Given the description of an element on the screen output the (x, y) to click on. 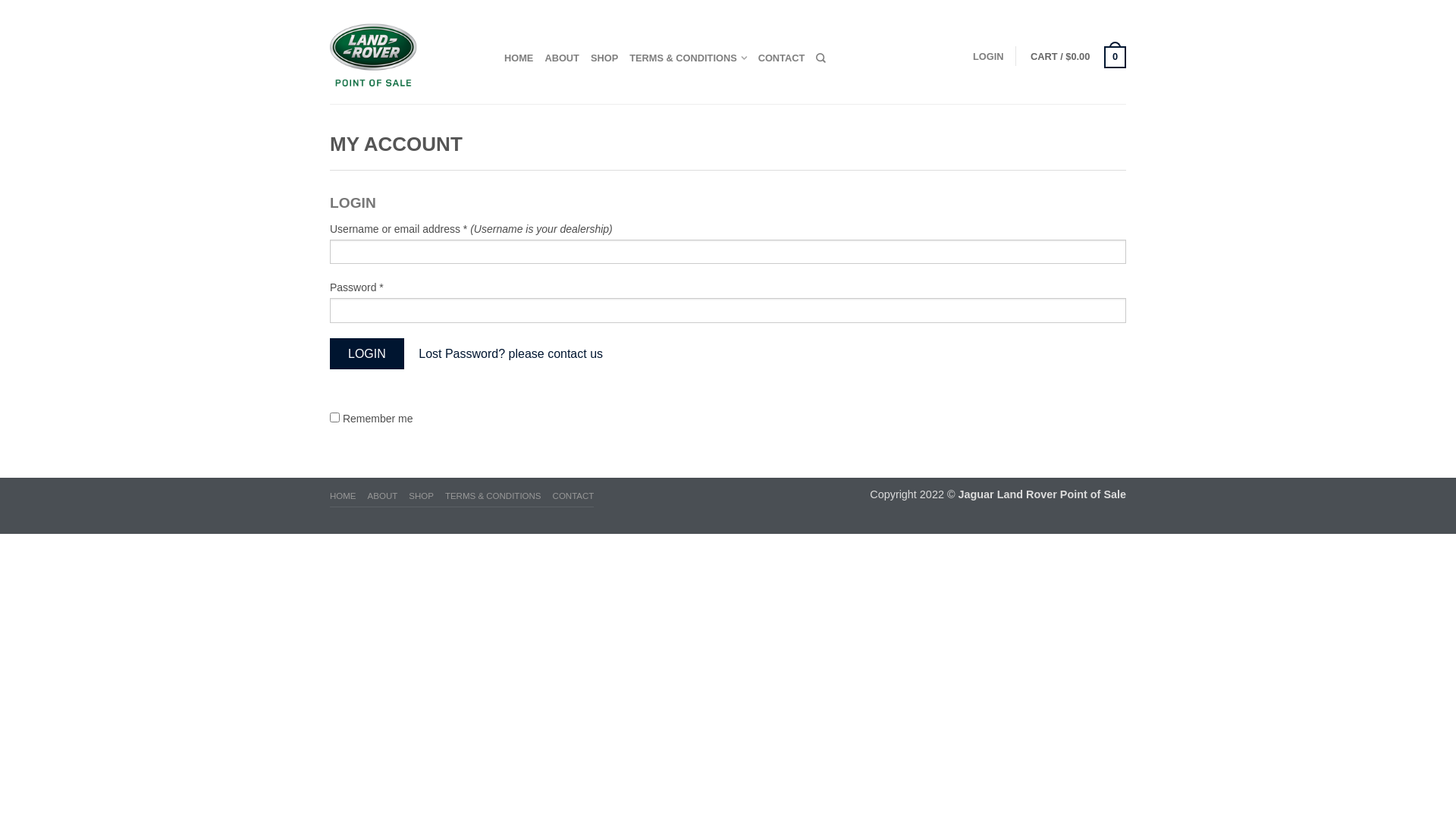
Login Element type: text (366, 353)
SHOP Element type: text (420, 497)
CONTACT Element type: text (781, 57)
ABOUT Element type: text (382, 497)
ABOUT Element type: text (561, 57)
TERMS & CONDITIONS Element type: text (687, 57)
TERMS & CONDITIONS Element type: text (493, 497)
SHOP Element type: text (604, 57)
HOME Element type: text (342, 497)
Lost Password? please contact us Element type: text (510, 353)
HOME Element type: text (518, 57)
LOGIN Element type: text (988, 56)
Land Rover Point of Sale : Australia -  Element type: hover (405, 51)
CONTACT Element type: text (573, 497)
CART / $0.00
0 Element type: text (1078, 56)
